Given the description of an element on the screen output the (x, y) to click on. 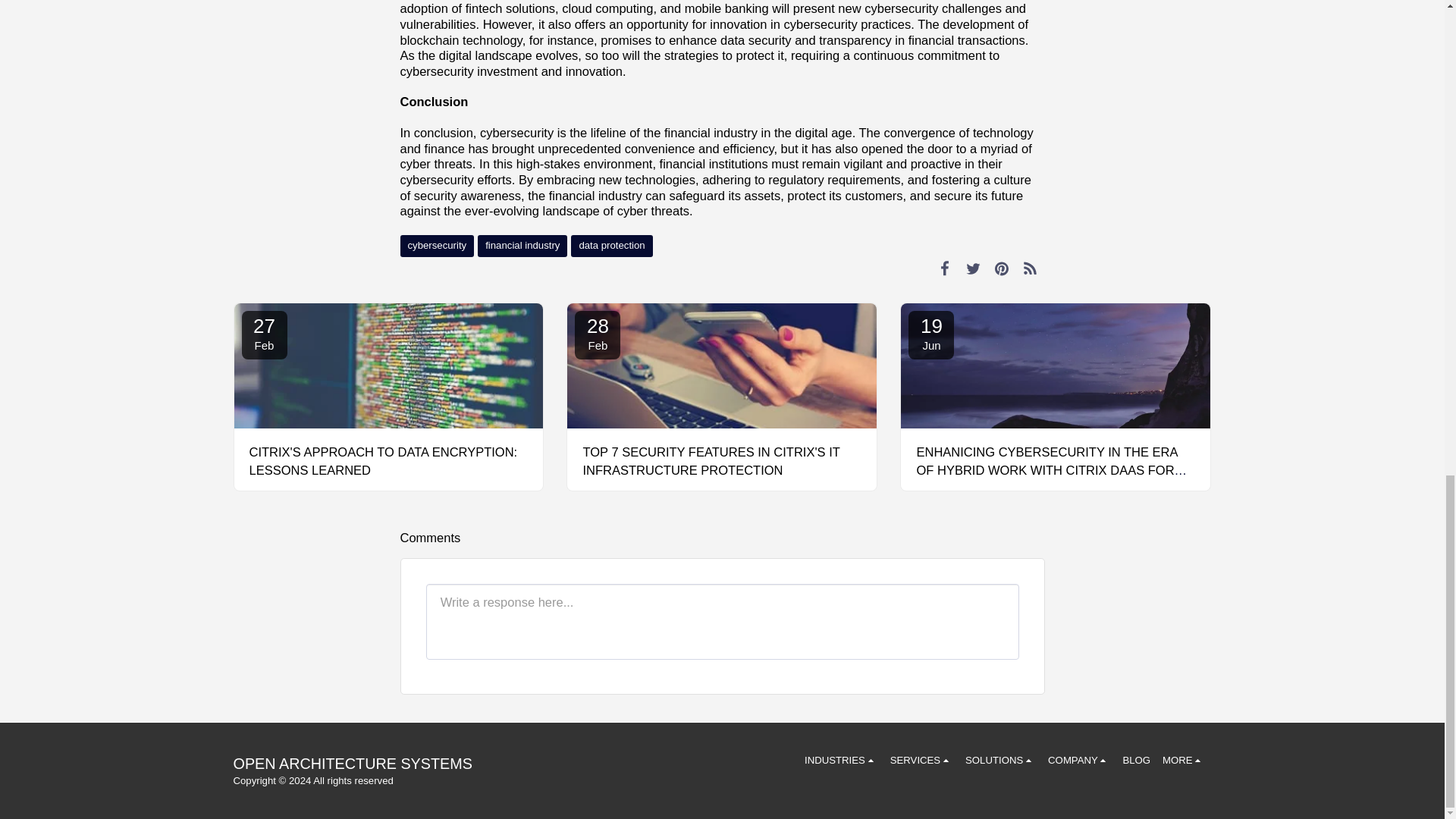
Pin it (1002, 268)
cybersecurity (437, 246)
Share on Facebook (945, 268)
Tweet (973, 268)
RSS (1029, 268)
